Given the description of an element on the screen output the (x, y) to click on. 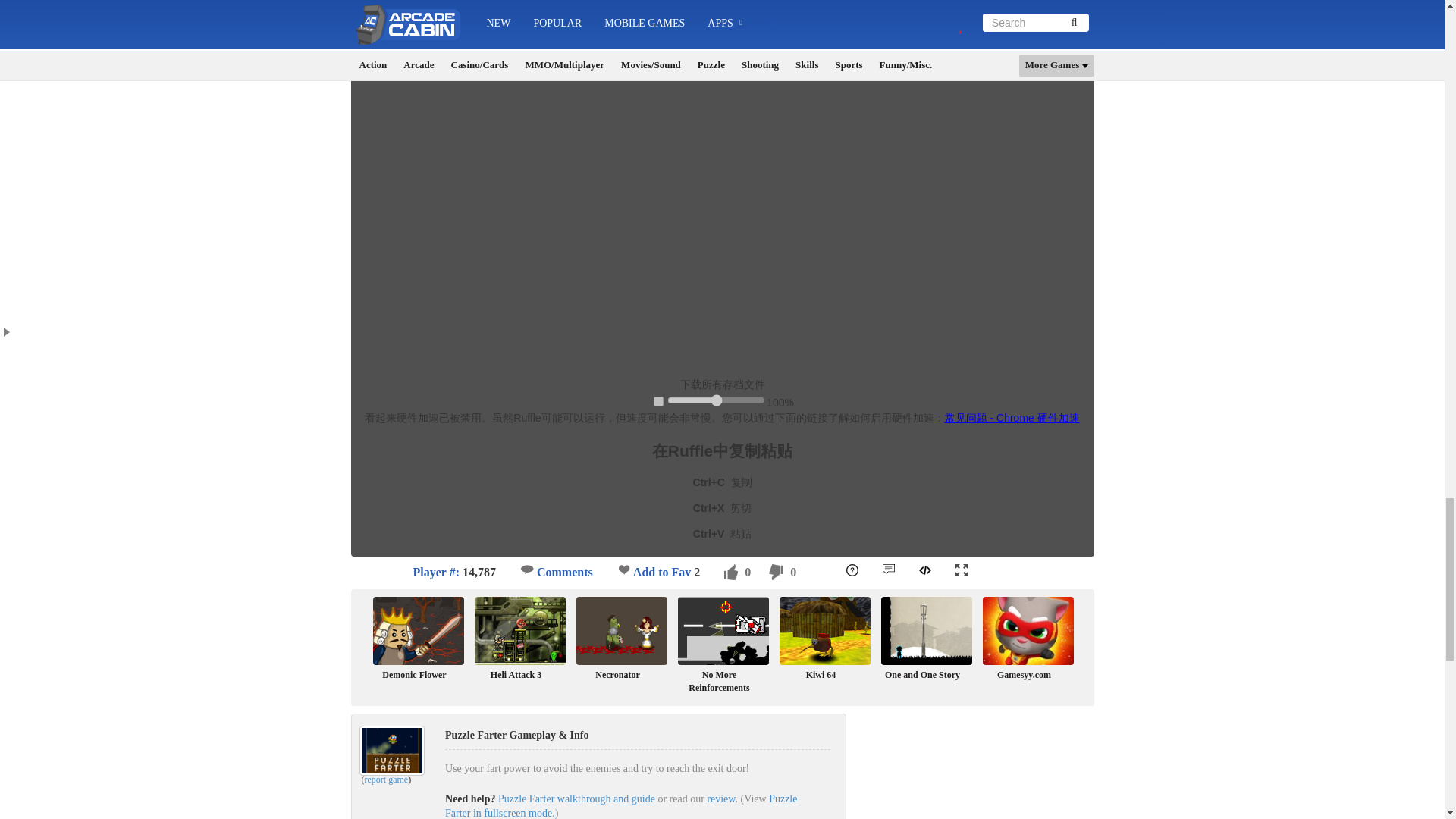
Add to My Favorites (623, 569)
View Game in Fullscreen (961, 570)
Game Review (888, 569)
Embed Game (924, 570)
